Given the description of an element on the screen output the (x, y) to click on. 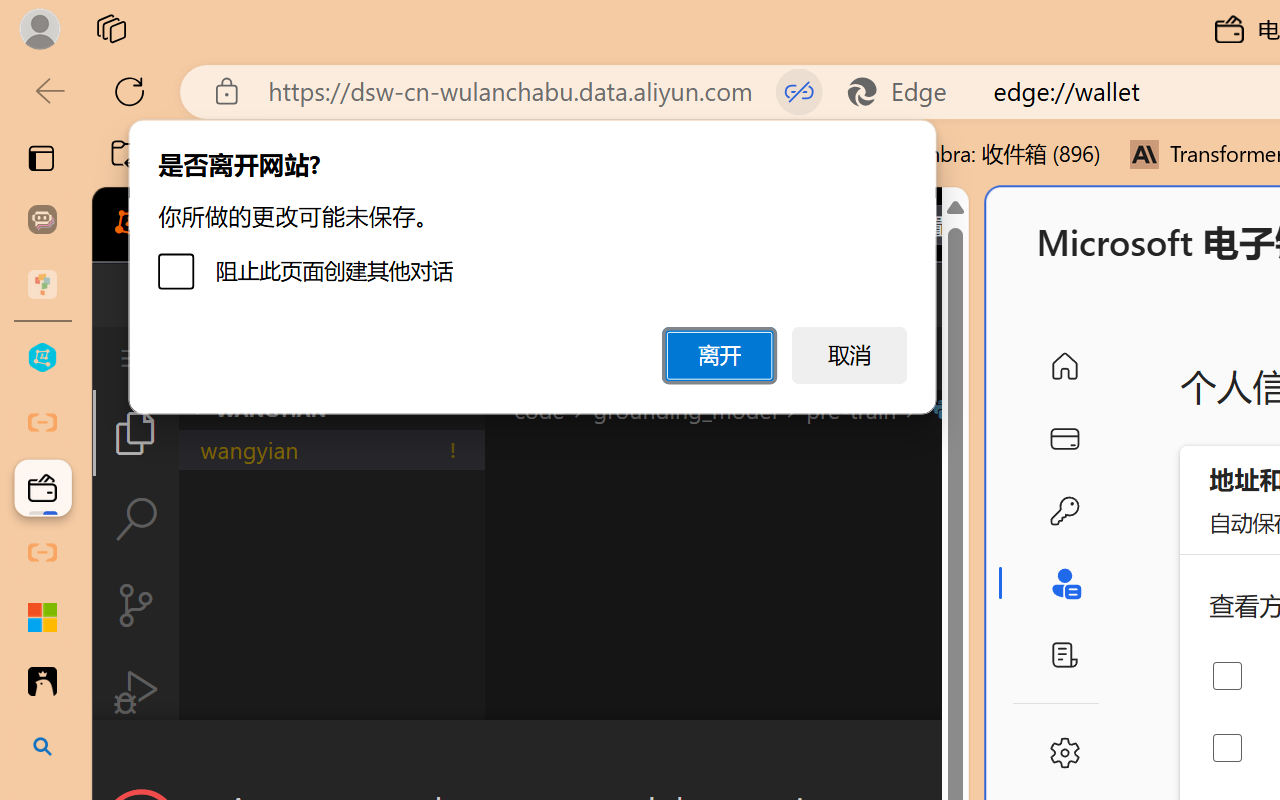
Run and Debug (Ctrl+Shift+D) (135, 692)
